Given the description of an element on the screen output the (x, y) to click on. 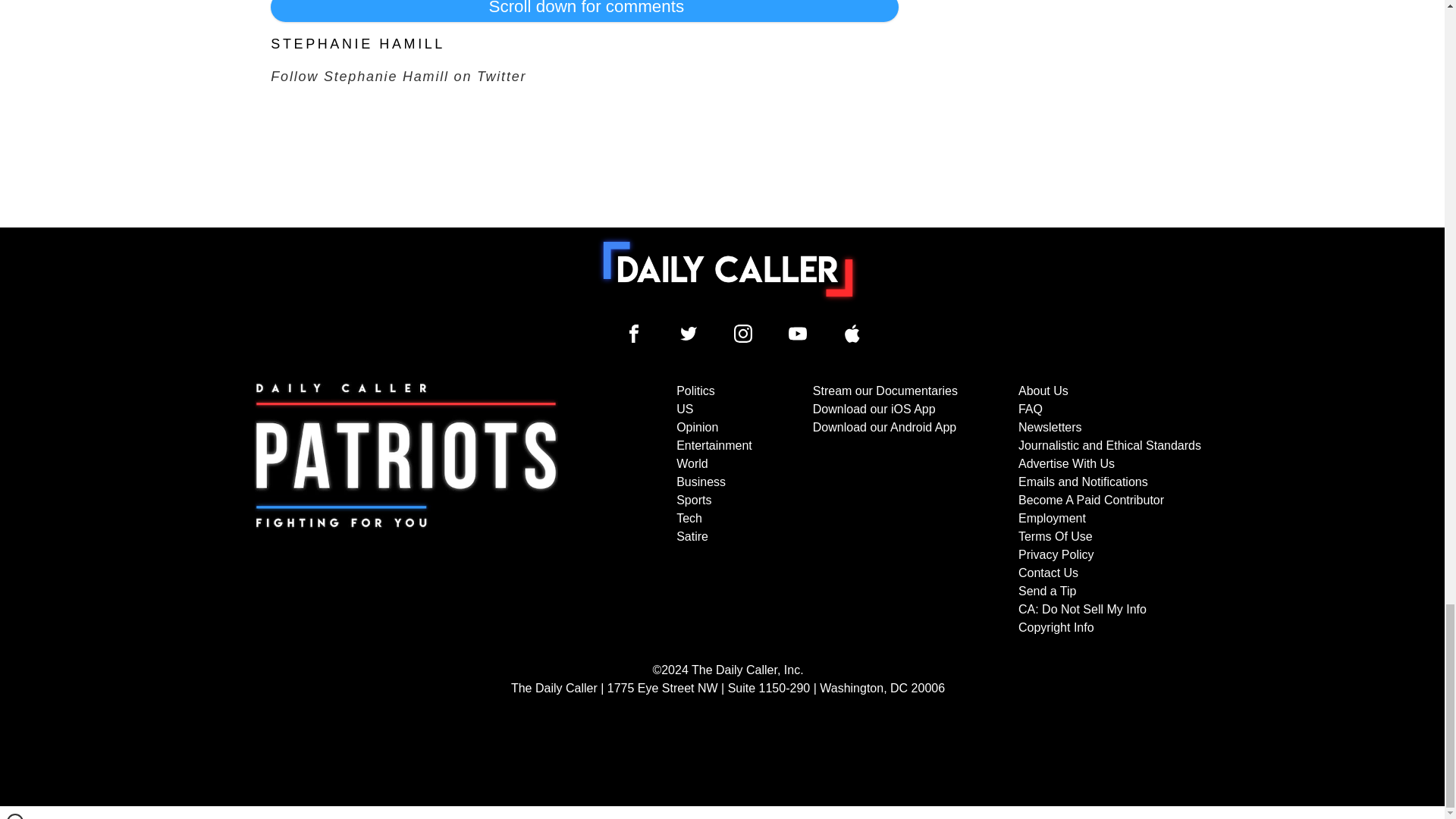
Daily Caller Facebook (633, 333)
Scroll down for comments (584, 10)
Daily Caller YouTube (852, 333)
To home page (727, 268)
Daily Caller Instagram (742, 333)
Daily Caller YouTube (797, 333)
Daily Caller Twitter (688, 333)
Subscribe to The Daily Caller (405, 509)
